Given the description of an element on the screen output the (x, y) to click on. 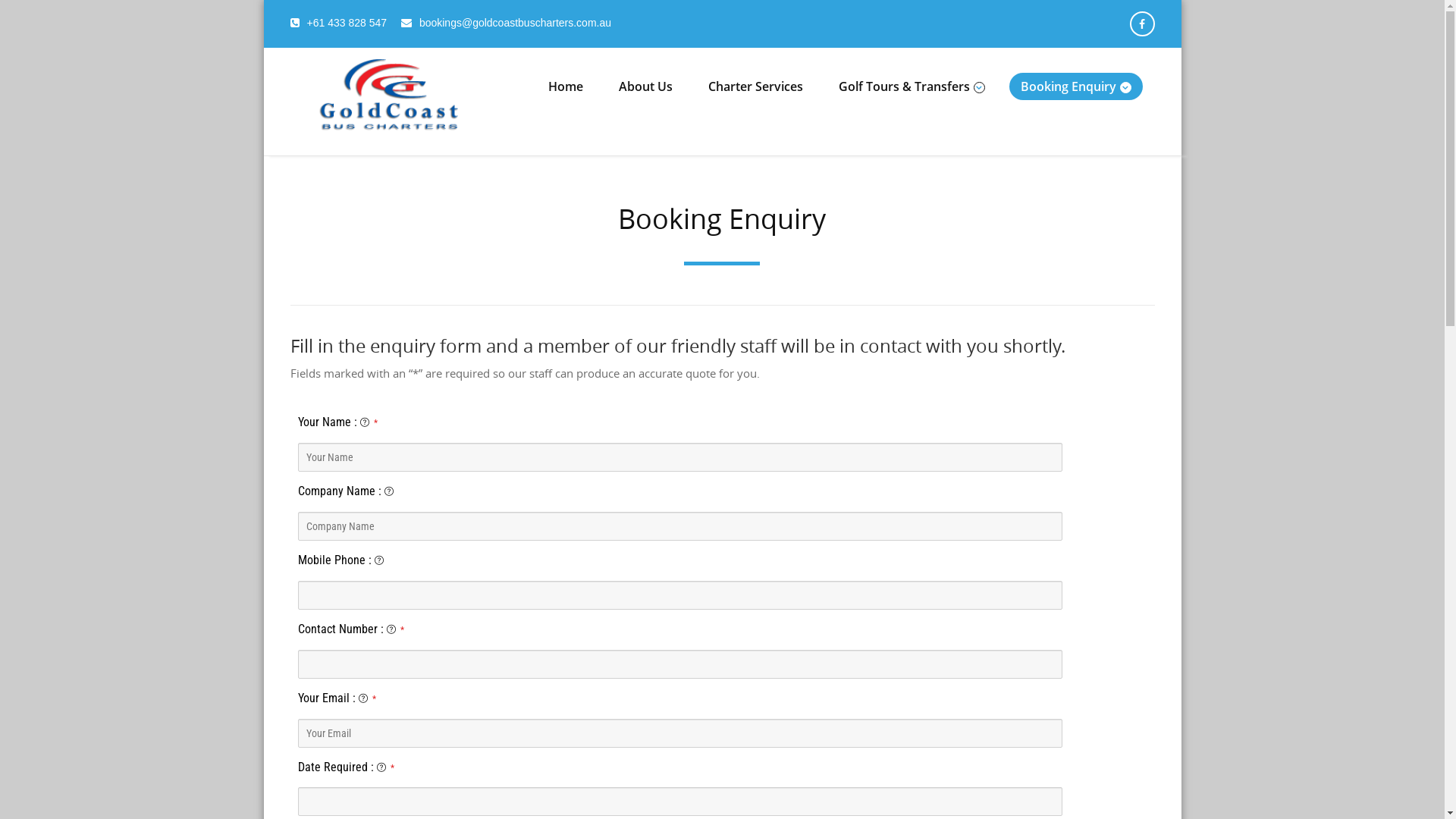
Home Element type: text (565, 86)
Charter Services Element type: text (754, 86)
Booking Enquiry Element type: text (1075, 86)
About Us Element type: text (644, 86)
Golf Tours & Transfers Element type: text (910, 86)
